Given the description of an element on the screen output the (x, y) to click on. 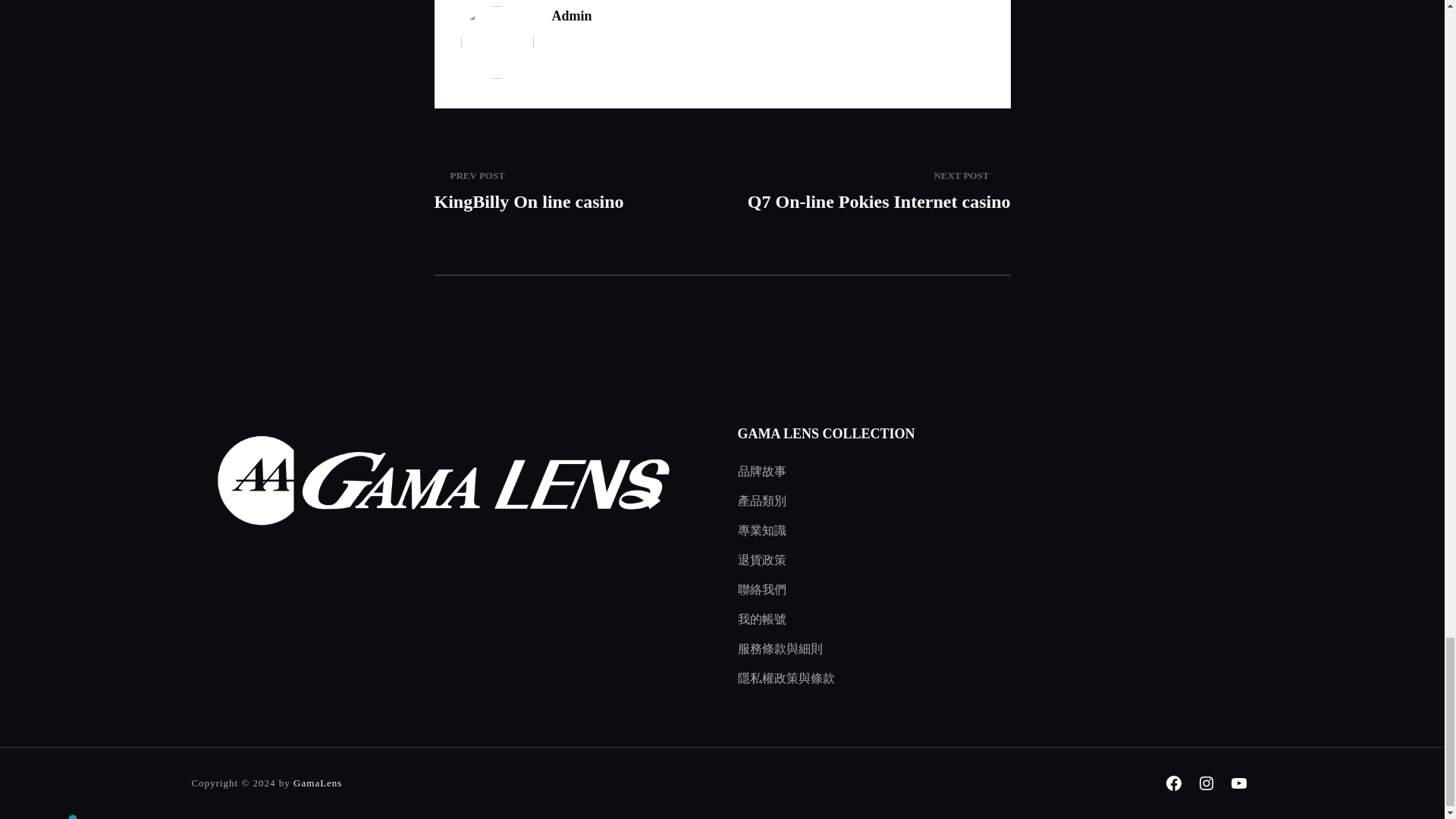
YouTube (1238, 783)
Instagram (873, 189)
Facebook (1206, 783)
GamaLens (1173, 783)
